Given the description of an element on the screen output the (x, y) to click on. 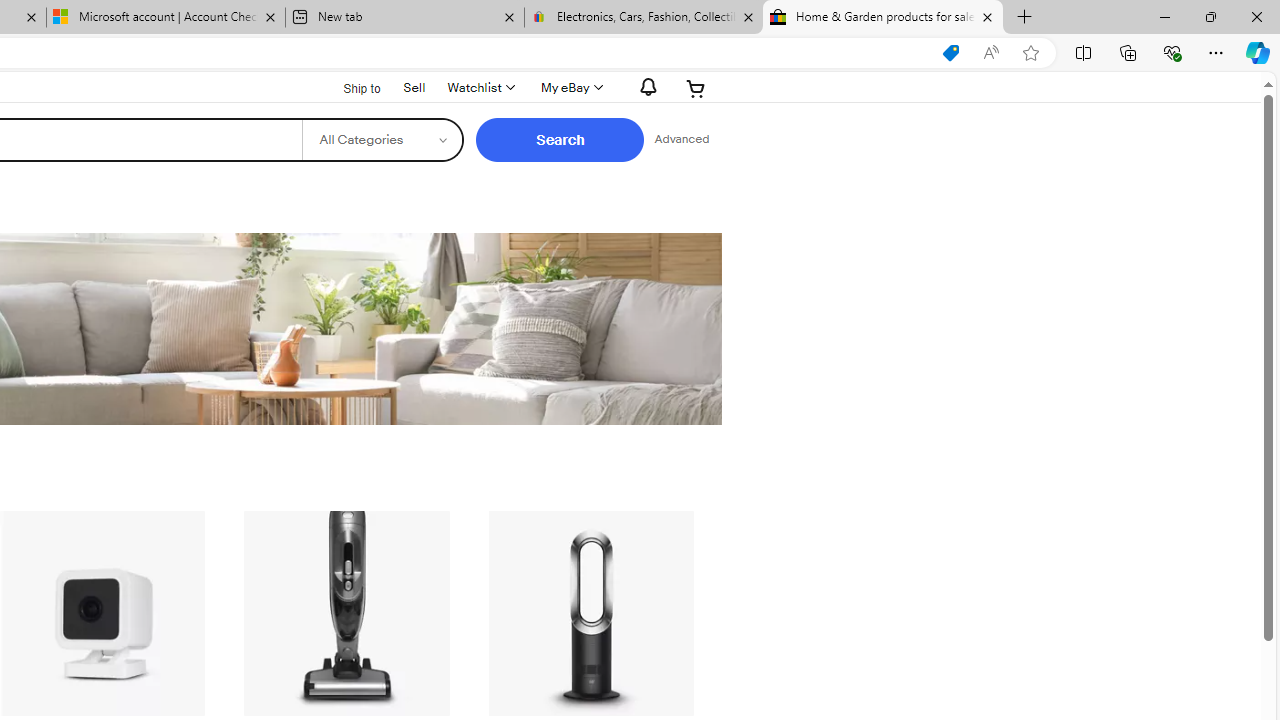
This site has coupons! Shopping in Microsoft Edge (950, 53)
Collections (1128, 52)
Select a category for search (382, 139)
Close tab (987, 16)
Watchlist (479, 88)
My eBay (569, 88)
AutomationID: gh-eb-Alerts (645, 87)
Expand Cart (696, 88)
Notifications (642, 87)
Ship to (349, 89)
Close (1256, 16)
Minimize (1164, 16)
Sell (413, 86)
Electronics, Cars, Fashion, Collectibles & More | eBay (643, 17)
Restore (1210, 16)
